Given the description of an element on the screen output the (x, y) to click on. 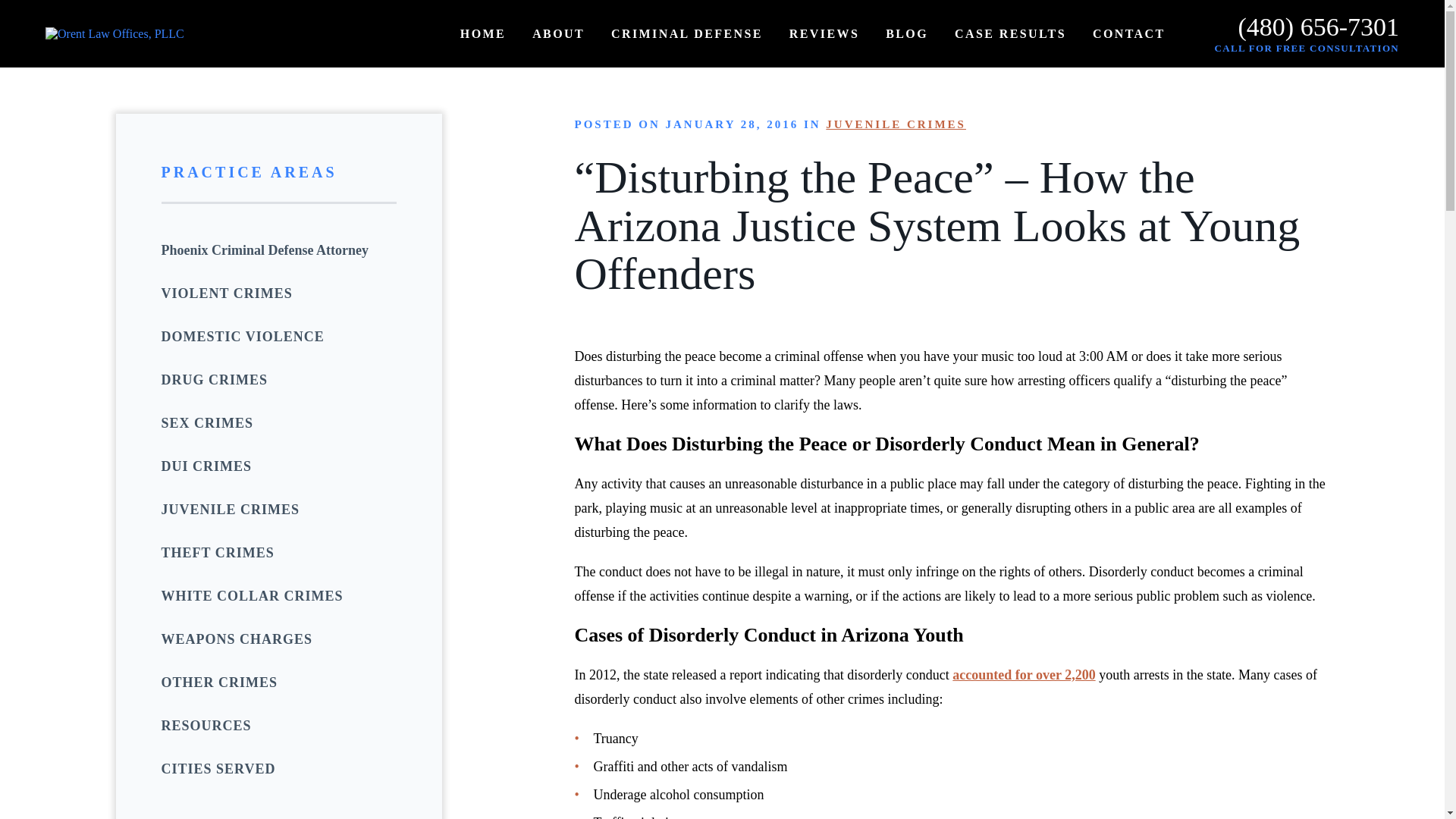
REVIEWS (824, 33)
CASE RESULTS (1010, 33)
HOME (482, 33)
CONTACT (1129, 33)
BLOG (906, 33)
CRIMINAL DEFENSE (686, 33)
ABOUT (558, 33)
